Given the description of an element on the screen output the (x, y) to click on. 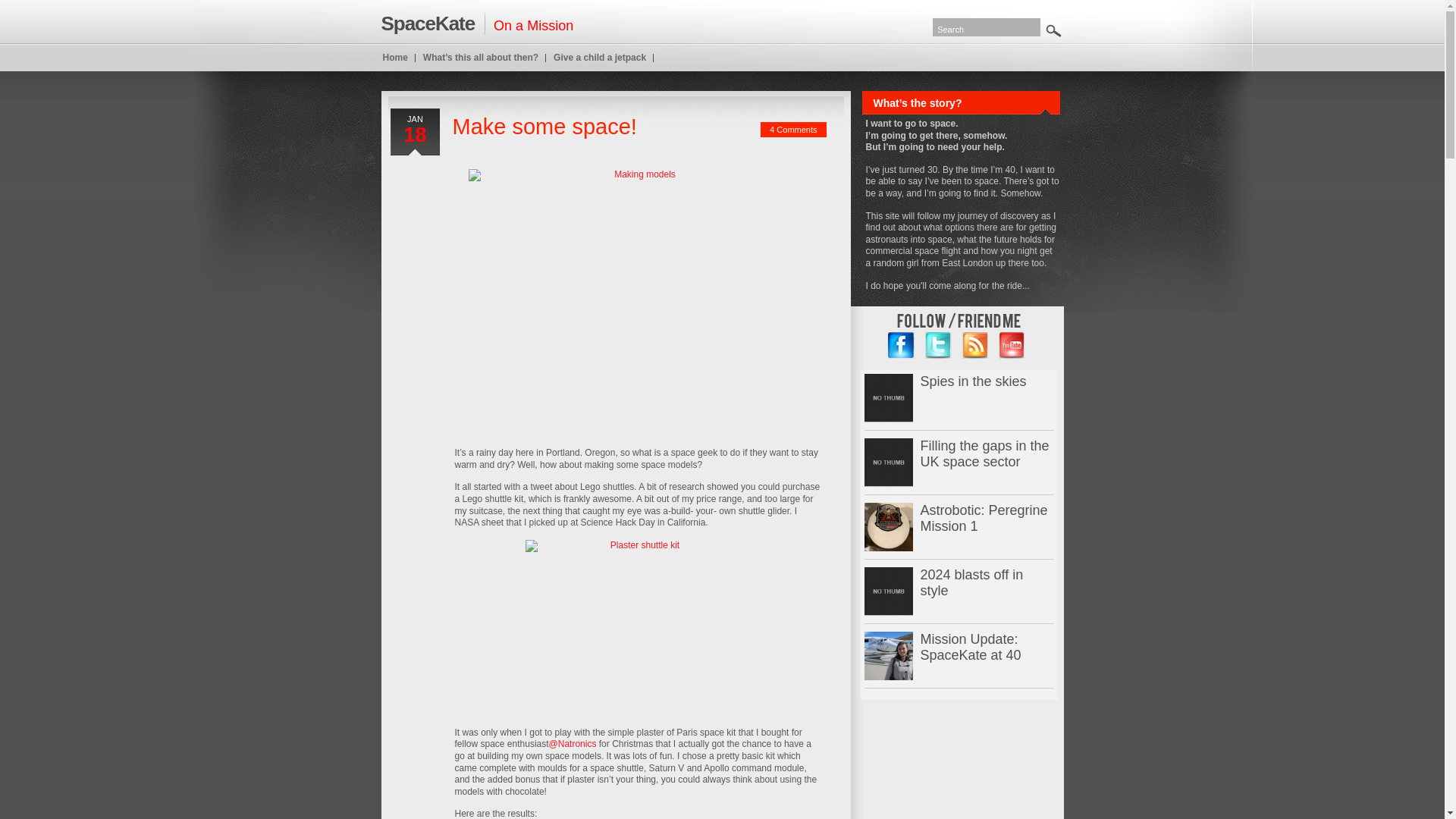
4 Comments (793, 129)
Plaster shuttle kit (638, 627)
Comment on Make some space! (793, 129)
SpaceKate On a Mission (476, 22)
Spies in the skies (888, 397)
Search (987, 27)
Go (1052, 28)
Making models (638, 296)
Make some space! (543, 126)
Go (1052, 28)
